Given the description of an element on the screen output the (x, y) to click on. 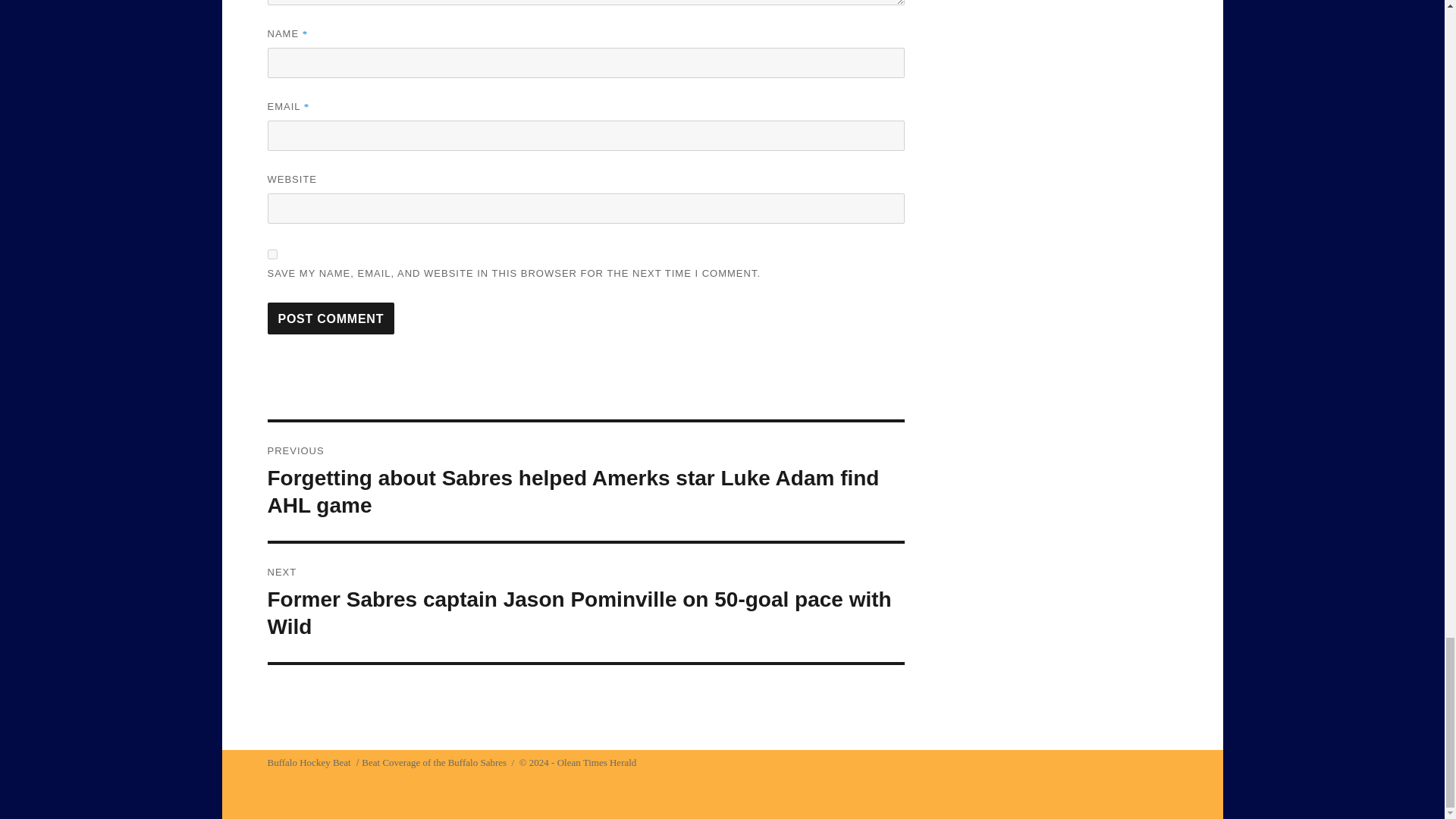
Olean Times Herald (597, 762)
Post Comment (330, 318)
yes (271, 253)
Post Comment (330, 318)
Buffalo Hockey Beat (308, 762)
